Given the description of an element on the screen output the (x, y) to click on. 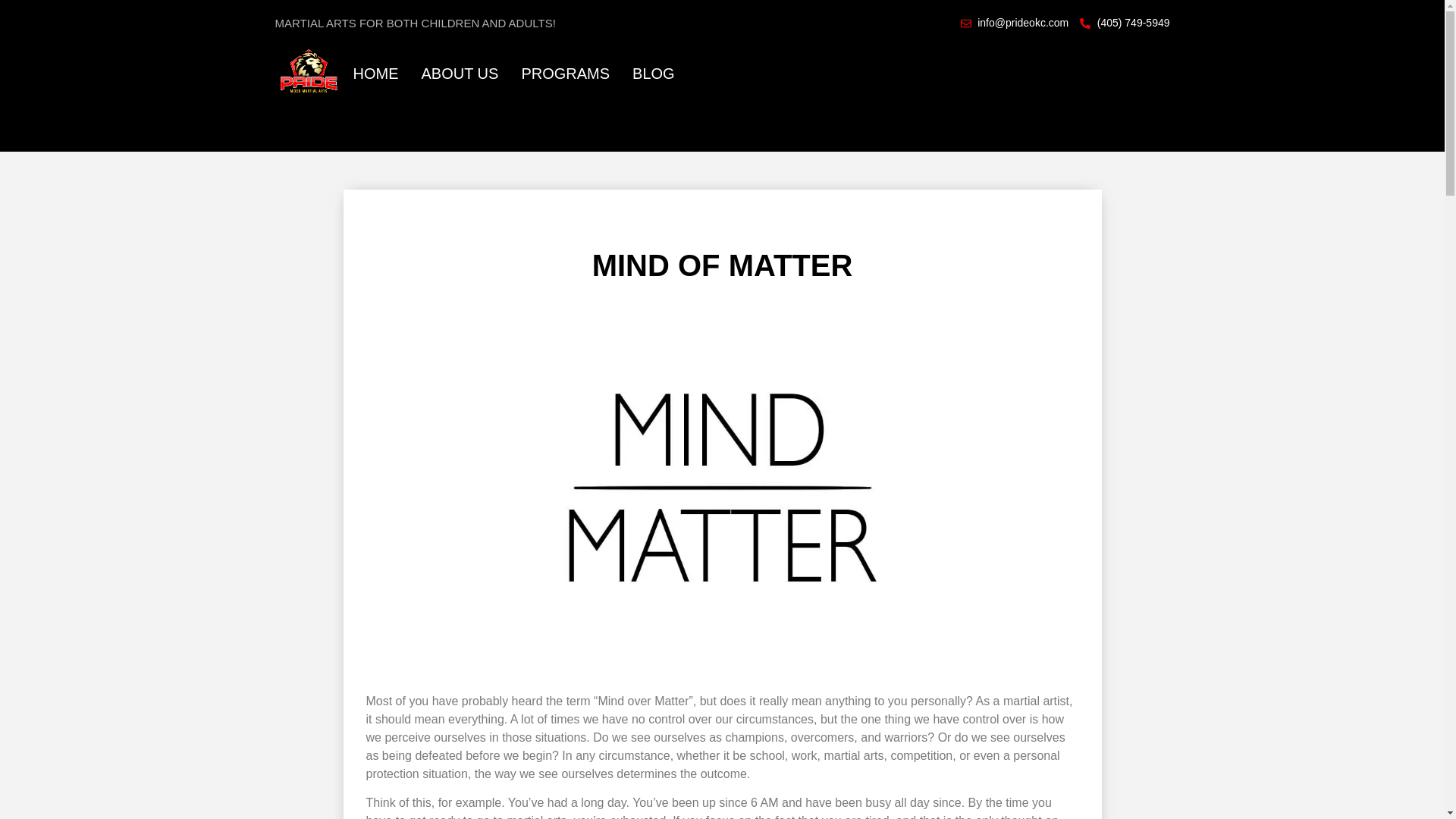
ABOUT US (460, 73)
HOME (375, 73)
BLOG (653, 73)
PROGRAMS (565, 73)
